Given the description of an element on the screen output the (x, y) to click on. 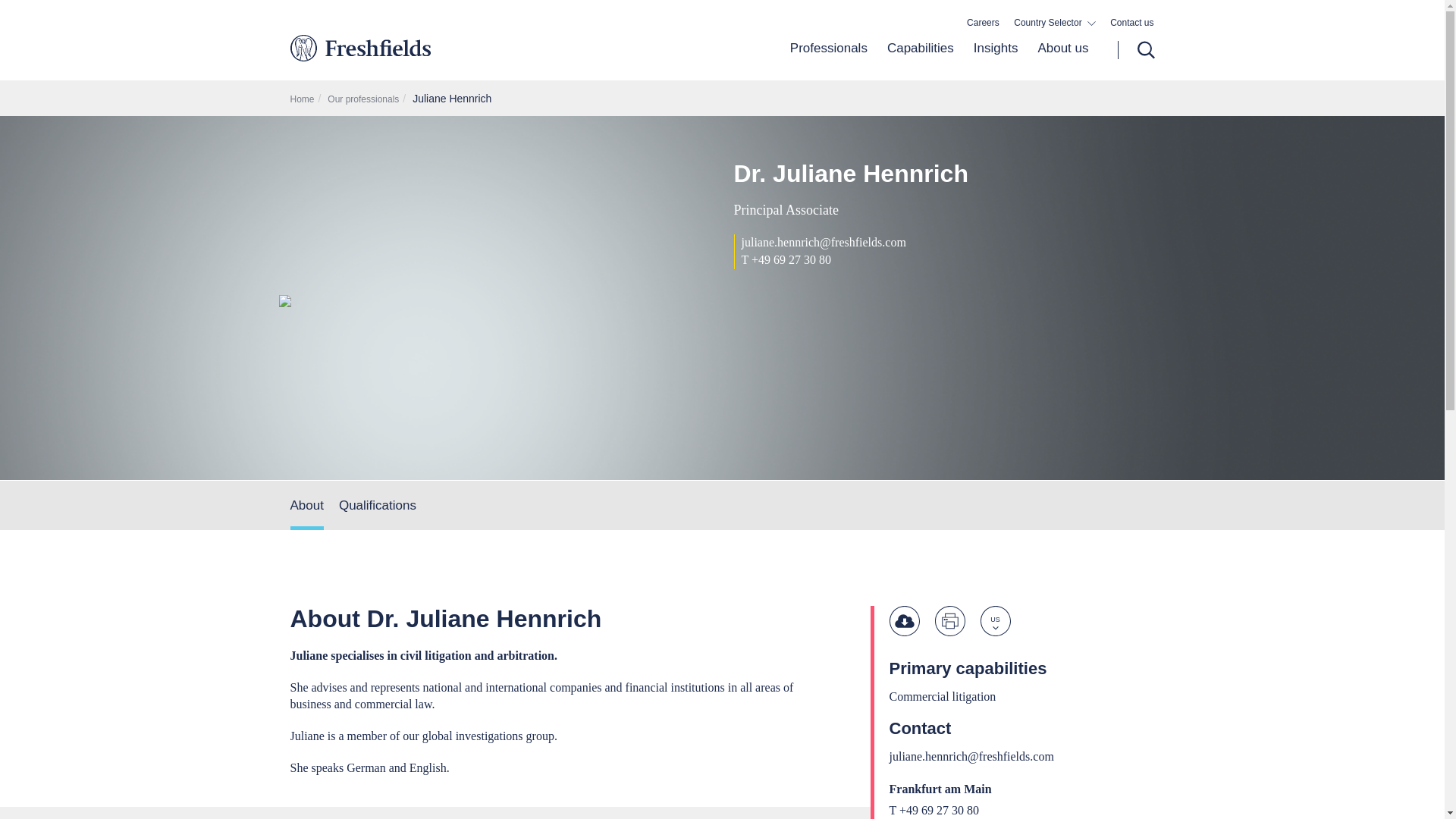
Careers (982, 22)
Freshfields Bruckhaus Deringer (423, 46)
Capabilities (920, 59)
Careers (982, 22)
Search (1136, 49)
Contact us (1131, 22)
Professionals (828, 59)
Insights (995, 59)
Country Selector (1053, 22)
About us (1057, 59)
